Given the description of an element on the screen output the (x, y) to click on. 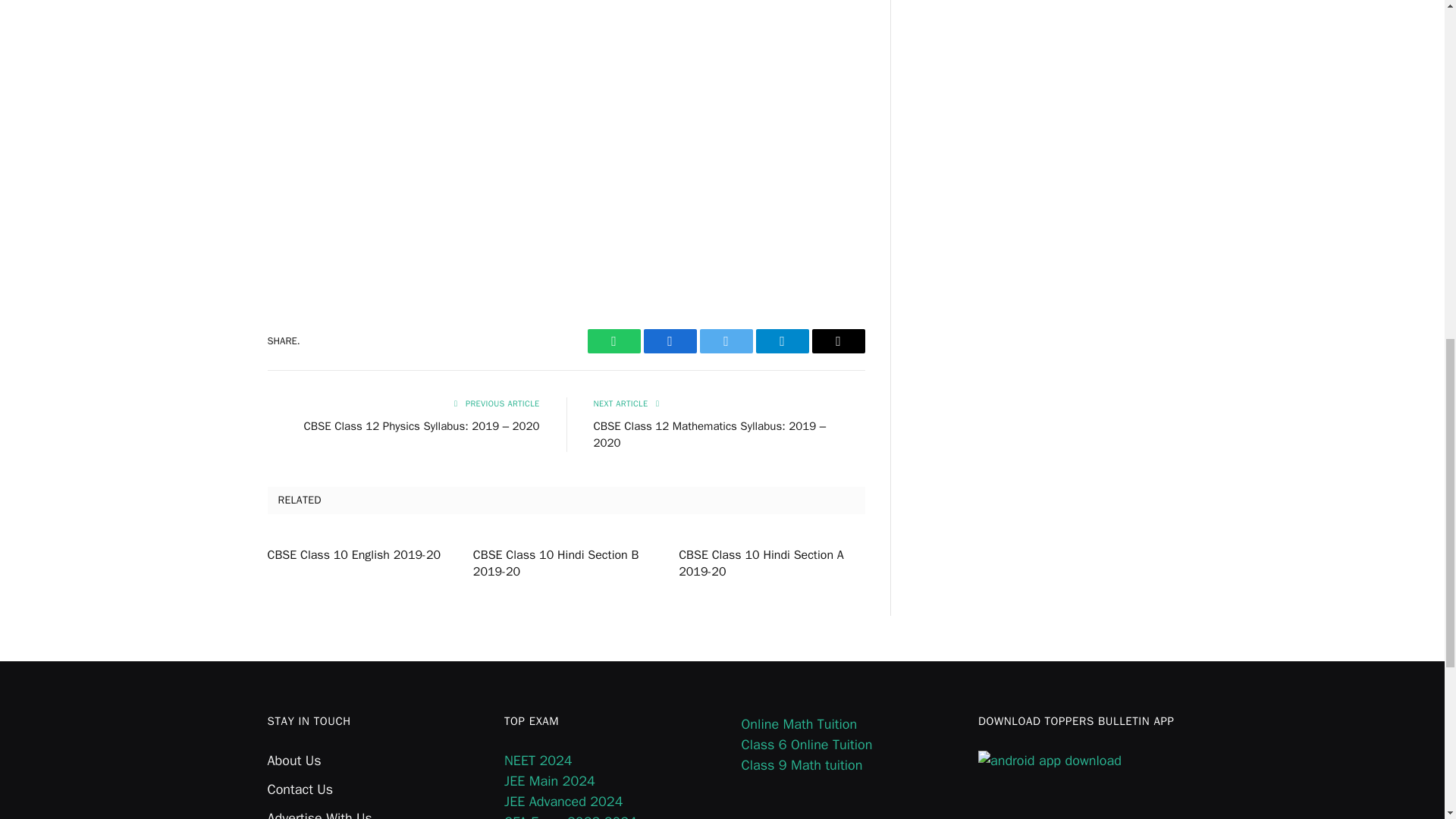
Email (837, 340)
CBSE Class 10 Hindi Section B 2019-20 (566, 563)
Share via Email (837, 340)
WhatsApp (613, 340)
CBSE Class 10 Hindi Section A 2019-20 (771, 563)
Contact Us (299, 789)
CBSE Class 10 English 2019-20 (359, 555)
About Us (293, 760)
Share on Facebook (669, 340)
Share on WhatsApp (613, 340)
